Given the description of an element on the screen output the (x, y) to click on. 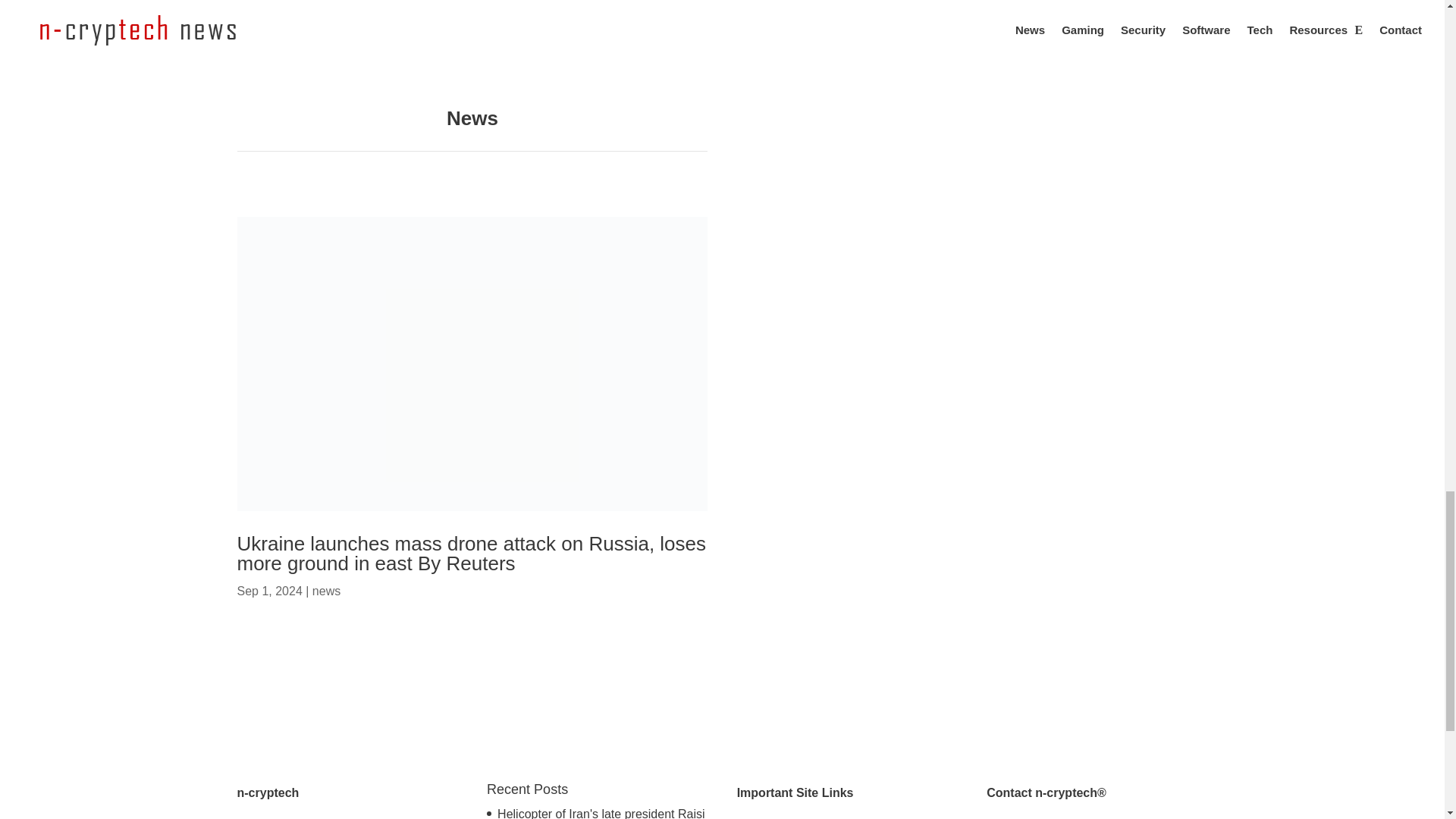
tech (823, 28)
software (335, 47)
news (326, 590)
An Attractive Magnet Insertion Tool (888, 6)
